Given the description of an element on the screen output the (x, y) to click on. 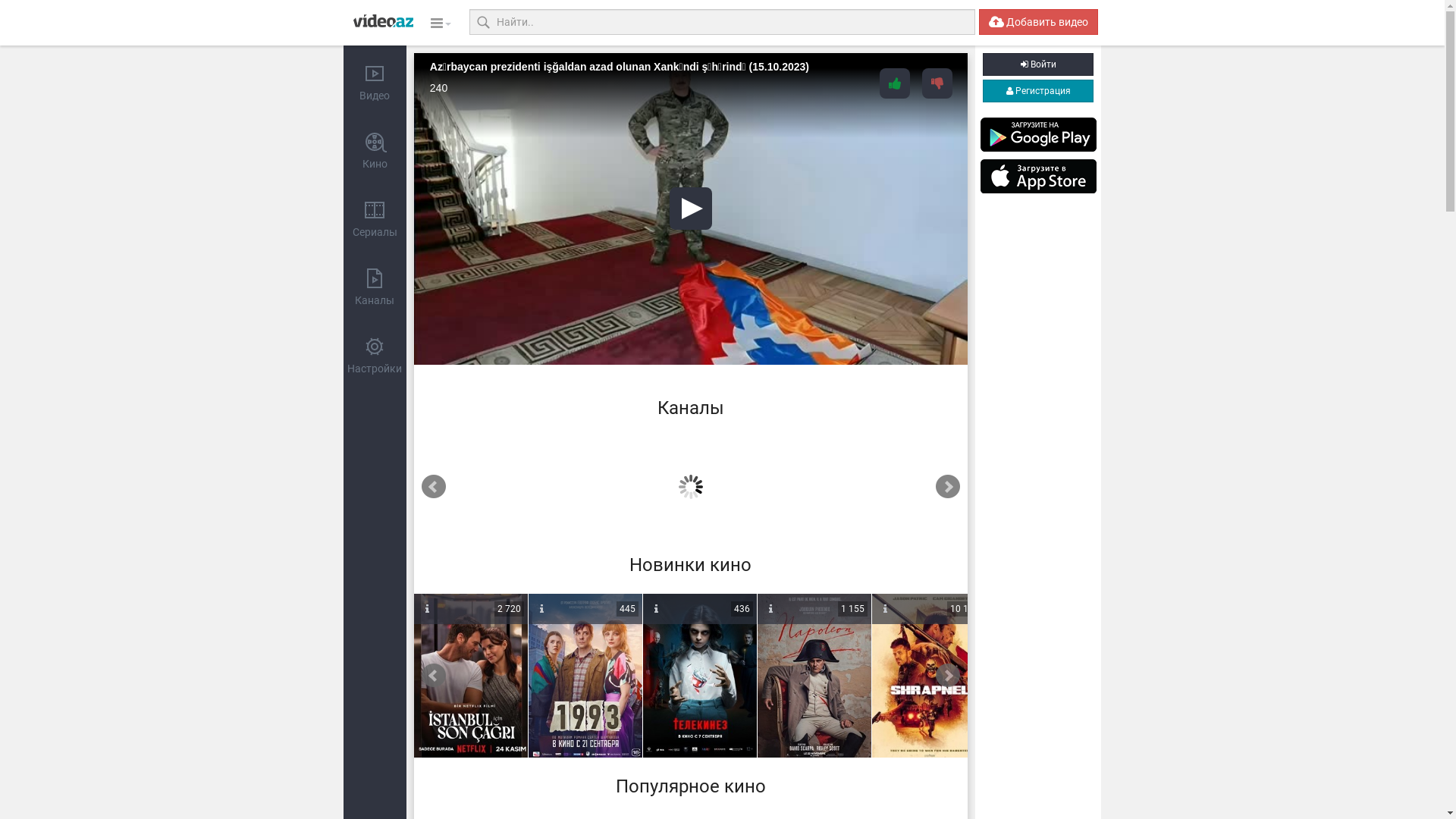
Prev Element type: text (433, 675)
1993 (2023) HDRip Element type: hover (585, 675)
Next Element type: text (947, 675)
Next Element type: text (947, 486)
Prev Element type: text (433, 486)
Autograph magazine Element type: hover (527, 482)
